Given the description of an element on the screen output the (x, y) to click on. 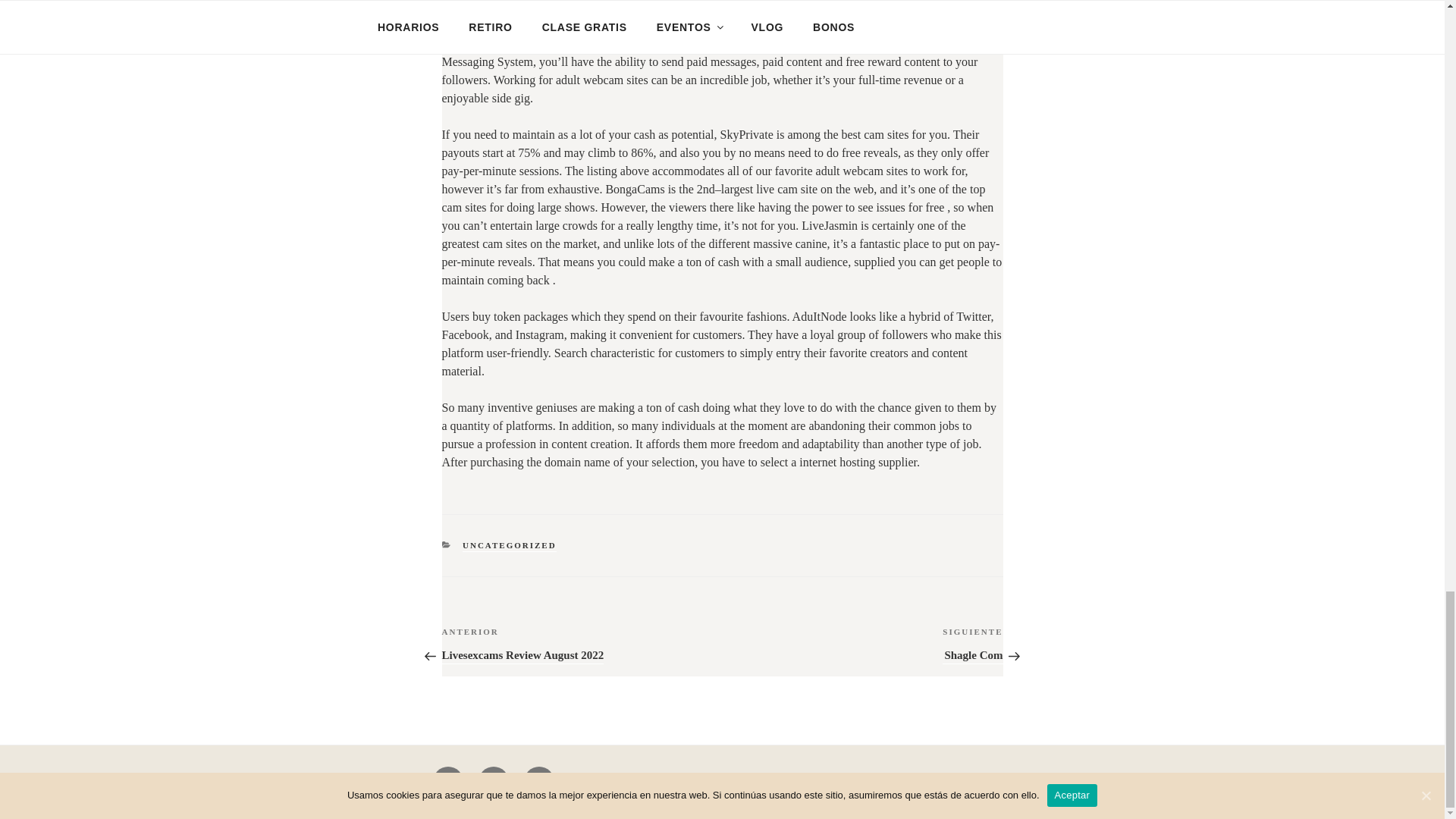
UNCATEGORIZED (509, 545)
Youtube (493, 781)
Facebook (522, 645)
Instagram (539, 781)
Legal (447, 781)
